Given the description of an element on the screen output the (x, y) to click on. 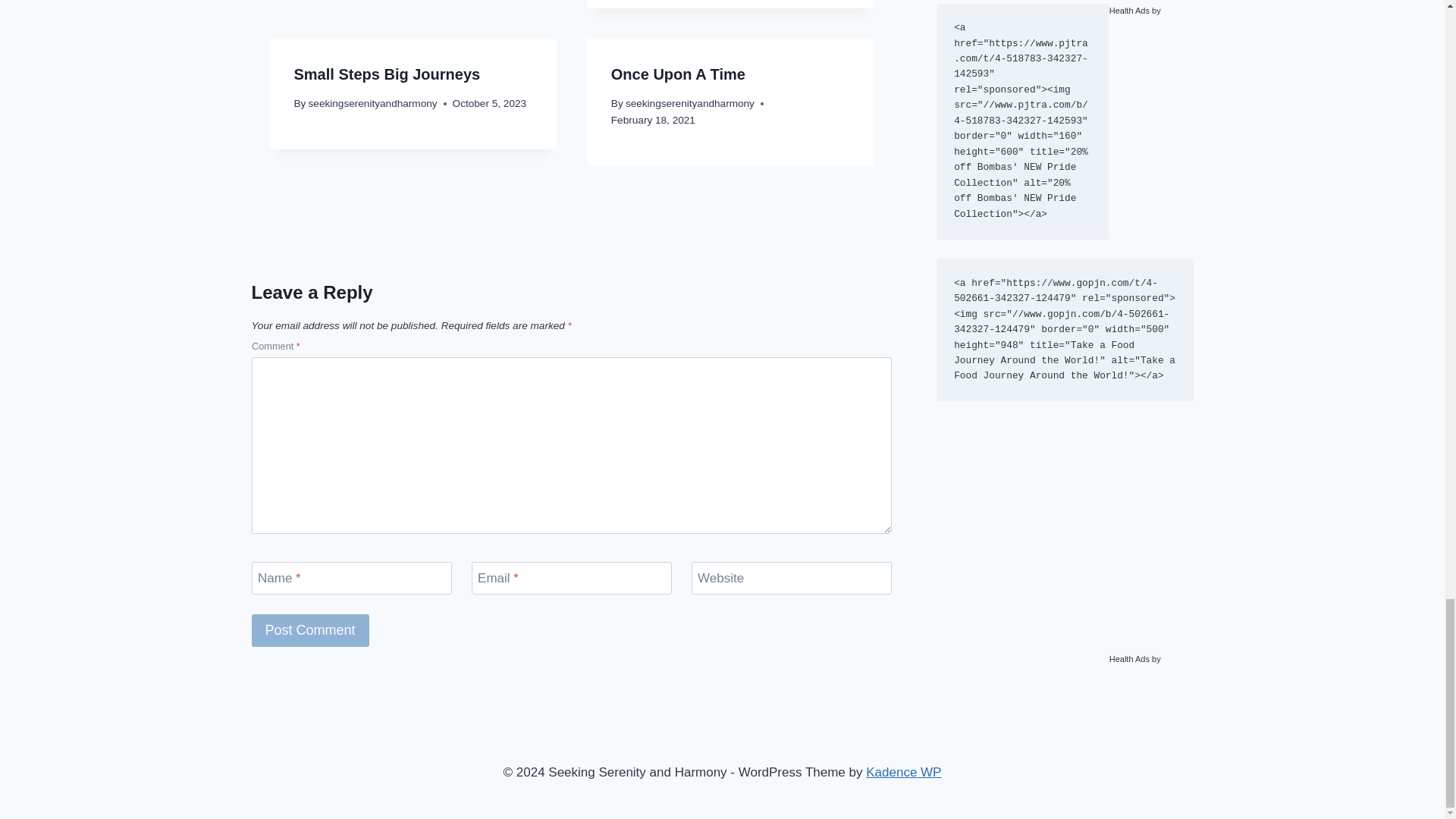
Post Comment (310, 630)
